Given the description of an element on the screen output the (x, y) to click on. 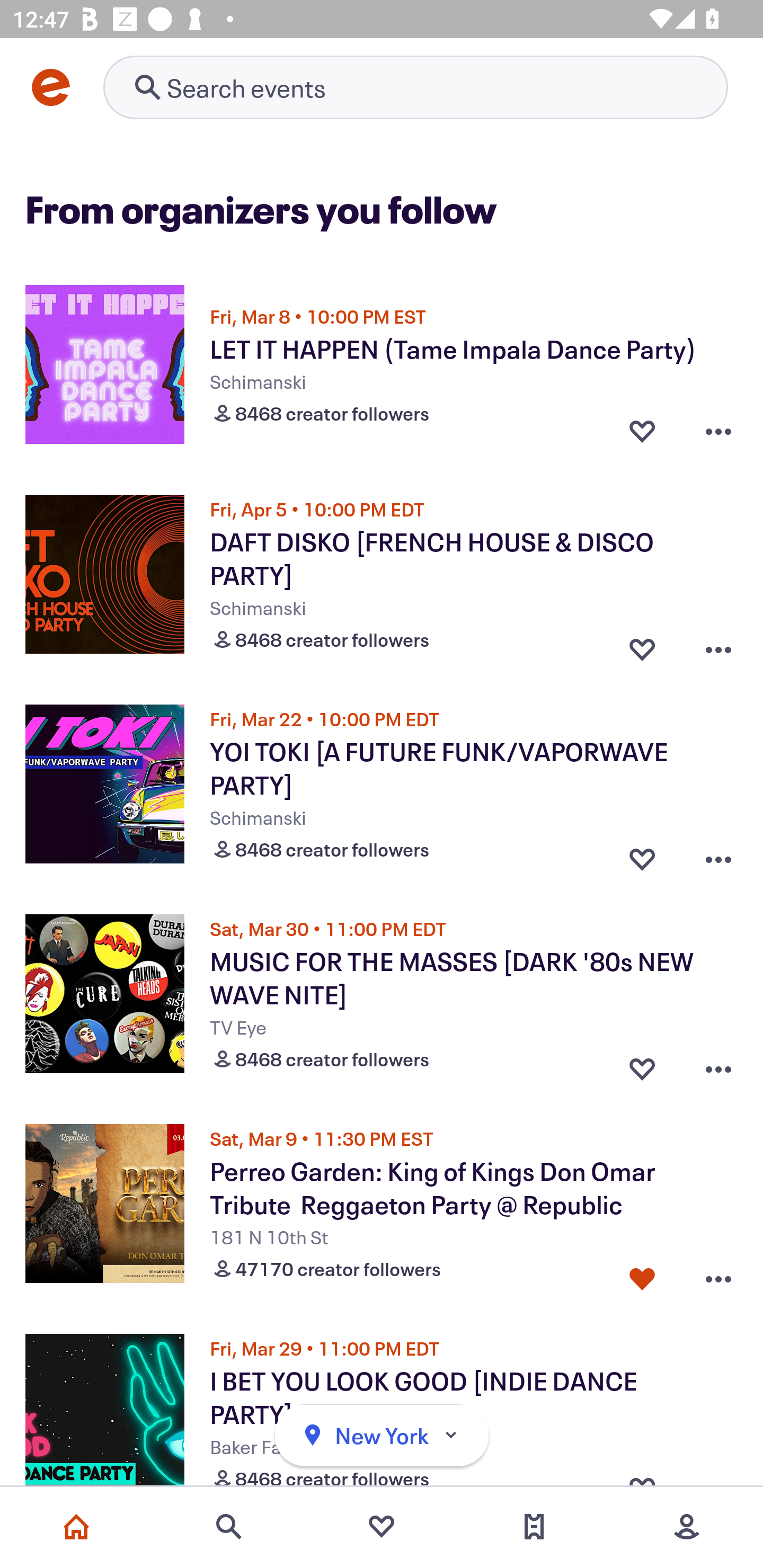
Retry's image Search events (415, 86)
Favorite button (642, 430)
Overflow menu button (718, 430)
Favorite button (642, 644)
Overflow menu button (718, 644)
Favorite button (642, 855)
Overflow menu button (718, 855)
Favorite button (642, 1065)
Overflow menu button (718, 1065)
Favorite button (642, 1274)
Overflow menu button (718, 1274)
New York (381, 1435)
Home (76, 1526)
Search events (228, 1526)
Favorites (381, 1526)
Tickets (533, 1526)
More (686, 1526)
